Given the description of an element on the screen output the (x, y) to click on. 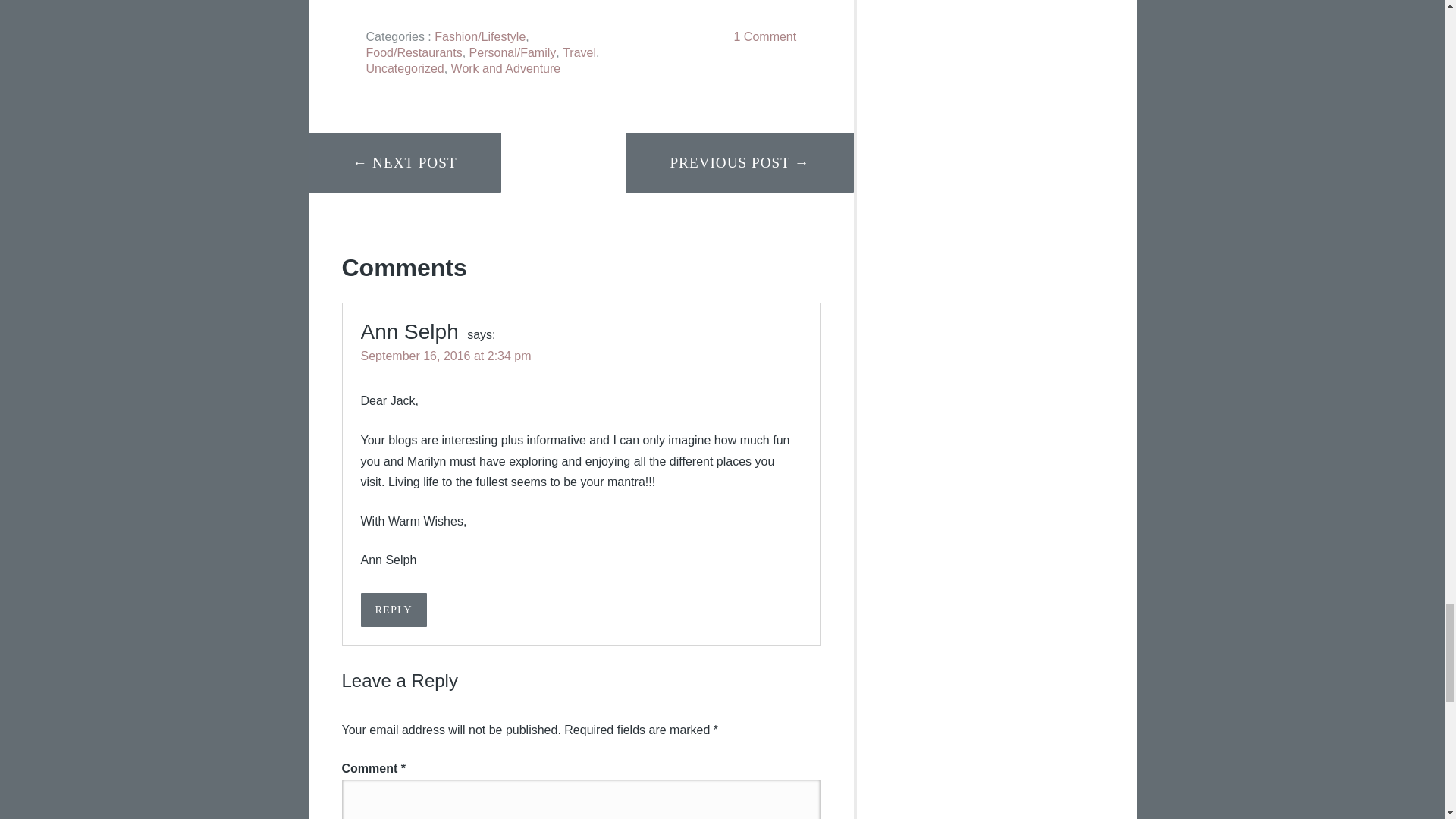
September 16, 2016 at 2:34 pm (446, 355)
1 Comment (764, 36)
REPLY (393, 609)
Uncategorized (404, 68)
Travel (578, 51)
Work and Adventure (505, 68)
